Given the description of an element on the screen output the (x, y) to click on. 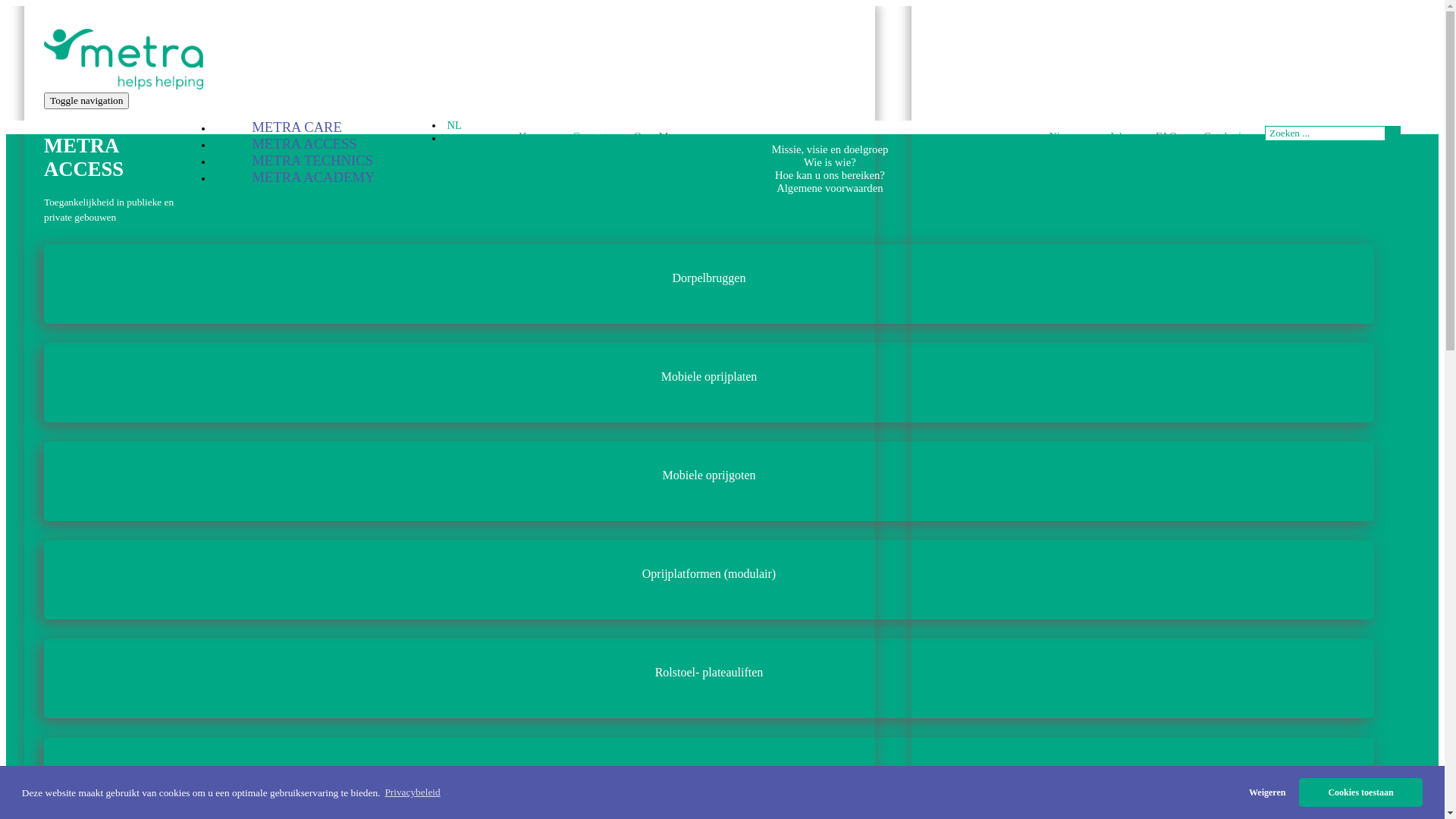
Mobiele oprijplaten Element type: text (704, 382)
Hoe kan u ons bereiken? Element type: text (829, 175)
Dorpelbruggen Element type: text (704, 283)
METRA ACADEMY Element type: text (293, 177)
Trappenklimmers Element type: text (704, 776)
Cookies toestaan Element type: text (1360, 792)
Toggle navigation Element type: text (85, 100)
Weigeren Element type: text (1266, 792)
METRA ACCESS Element type: text (284, 143)
Missie, visie en doelgroep Element type: text (829, 149)
Wie is wie? Element type: text (829, 162)
Rolstoel- plateauliften Element type: text (704, 678)
Algemene voorwaarden Element type: text (829, 188)
Catalogi Element type: text (1222, 136)
Nieuws Element type: text (1065, 136)
FR Element type: text (451, 137)
METRA TECHNICS Element type: text (293, 160)
NL Element type: text (451, 125)
METRA CARE Element type: text (277, 126)
Over Metra Element type: text (658, 136)
Mobiele oprijgoten Element type: text (704, 480)
Oprijplatformen (modulair) Element type: text (704, 579)
Contact Element type: text (589, 136)
Privacybeleid Element type: text (412, 792)
FAQ Element type: text (1165, 136)
Jobs Element type: text (1119, 136)
Home Element type: text (532, 136)
